Given the description of an element on the screen output the (x, y) to click on. 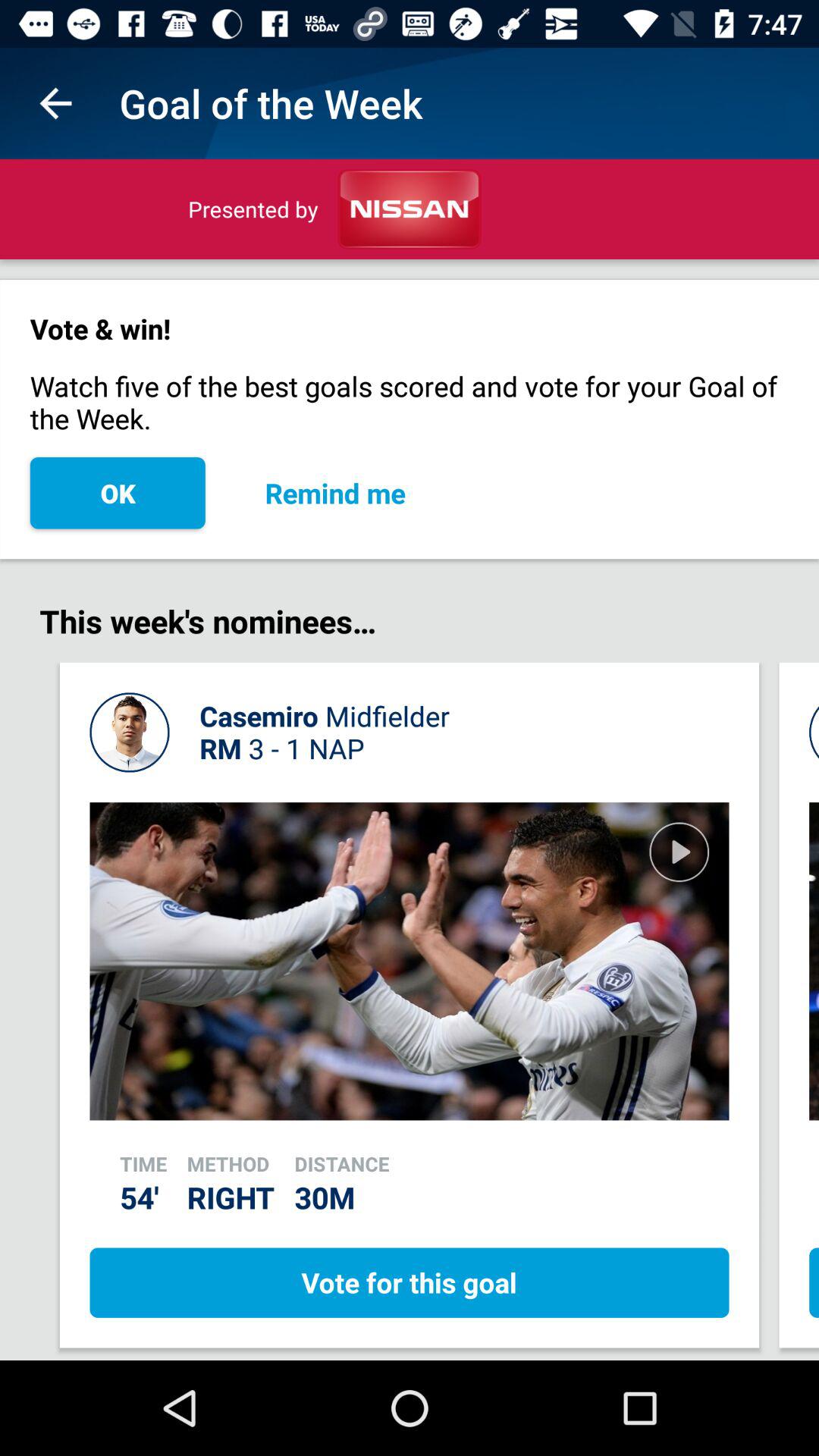
turn on icon below watch five of icon (335, 492)
